Given the description of an element on the screen output the (x, y) to click on. 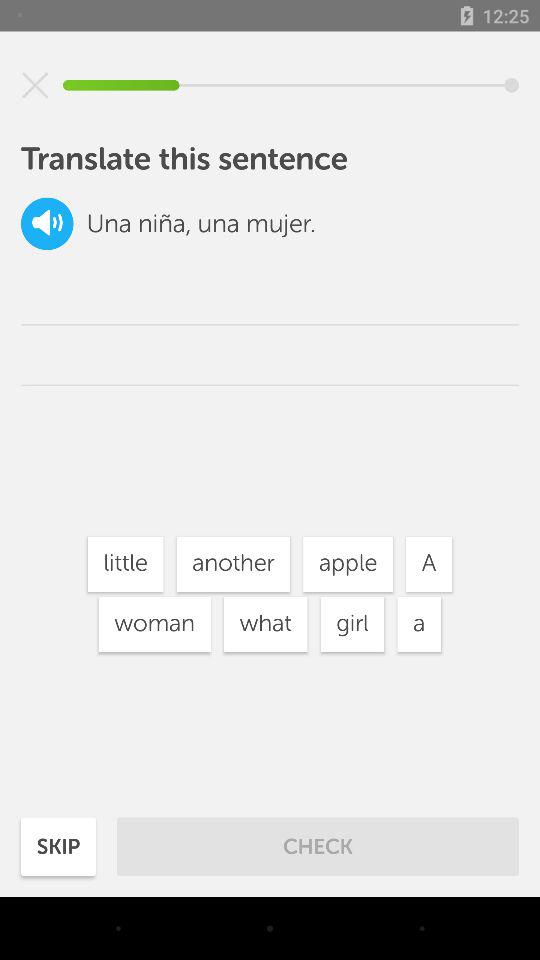
tap icon above translate this sentence icon (35, 85)
